Given the description of an element on the screen output the (x, y) to click on. 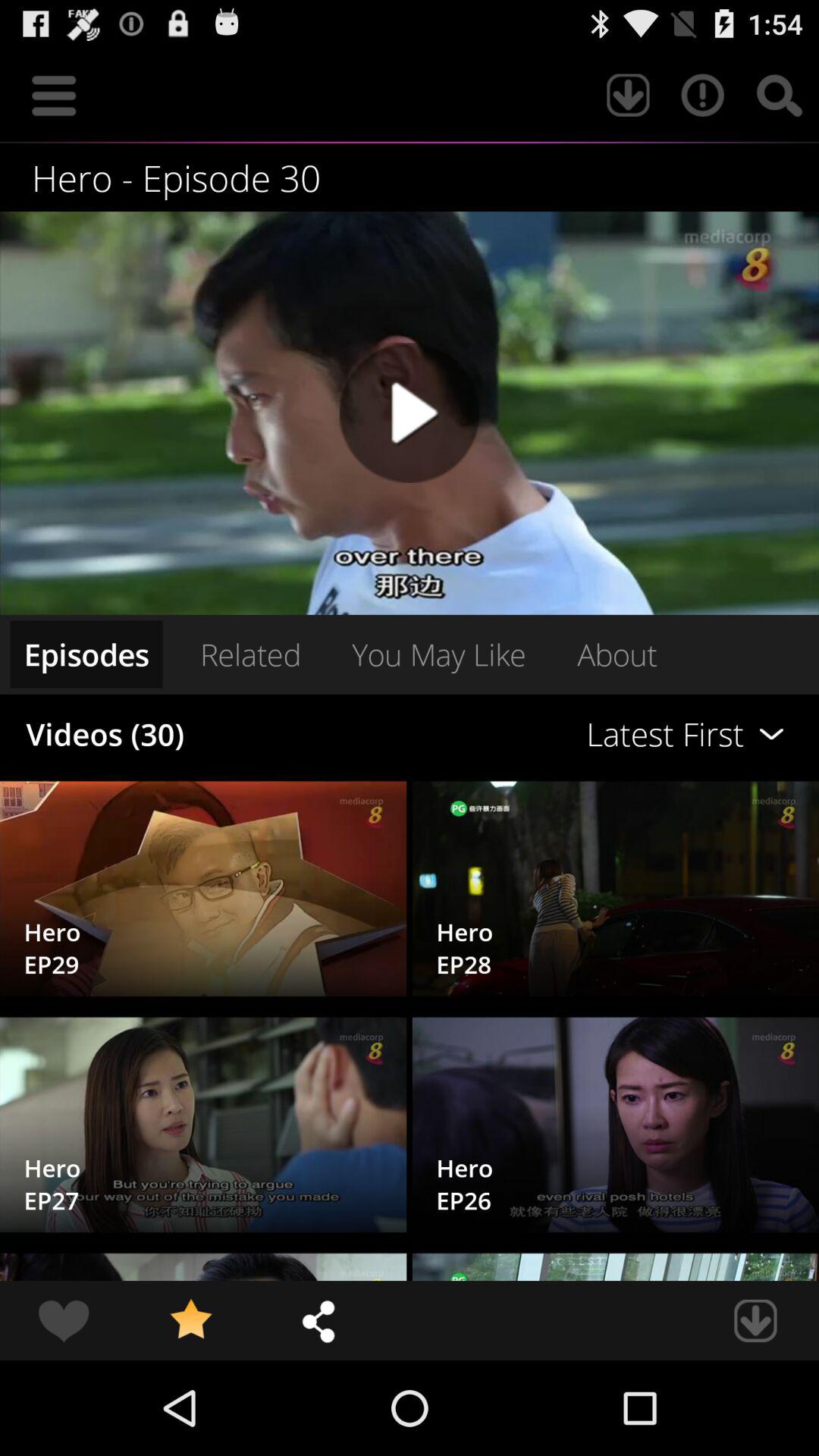
tap the icon at the center (438, 654)
